Given the description of an element on the screen output the (x, y) to click on. 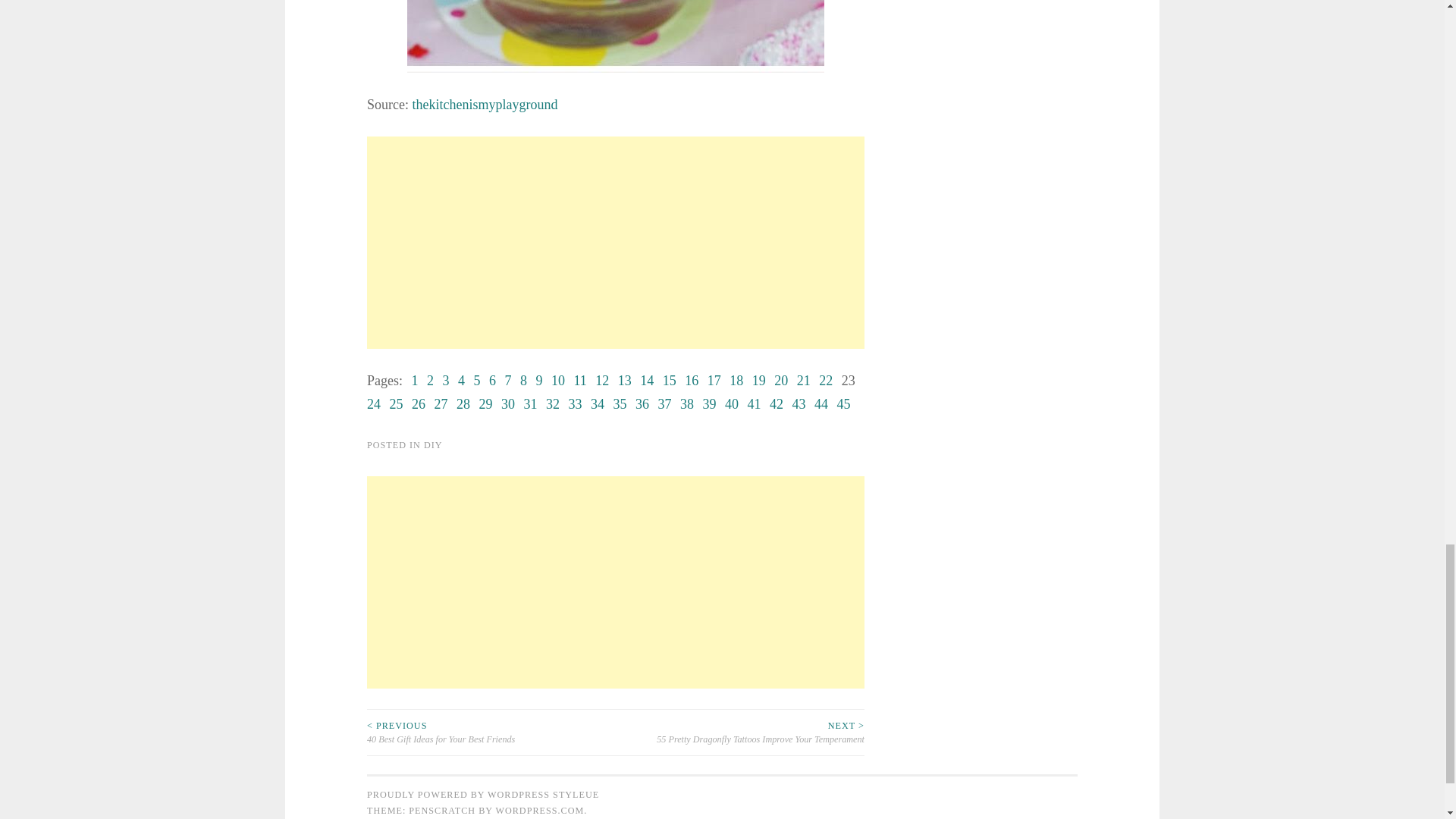
20 (780, 380)
19 (758, 380)
10 (557, 380)
27 (439, 403)
12 (601, 380)
15 (669, 380)
22 (825, 380)
29 (486, 403)
18 (735, 380)
21 (803, 380)
16 (691, 380)
30 (507, 403)
14 (646, 380)
25 (396, 403)
thekitchenismyplayground (484, 104)
